Given the description of an element on the screen output the (x, y) to click on. 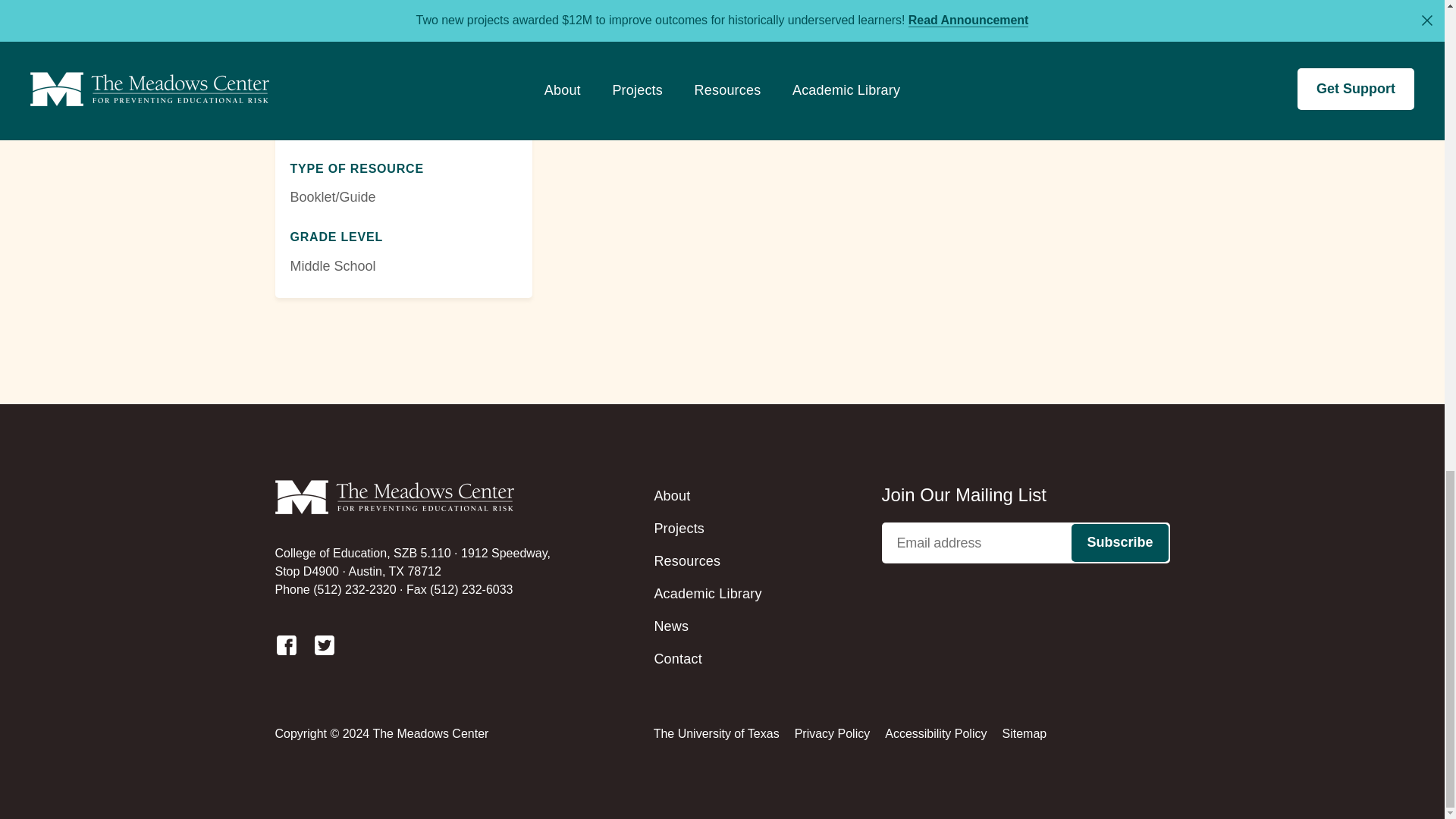
Contact (677, 658)
The University of Texas (715, 733)
News (670, 626)
Subscribe (1119, 542)
Academic Library (707, 593)
Subscribe (1119, 542)
Sitemap (1023, 733)
Privacy Policy (832, 733)
Projects (678, 528)
Resources (686, 560)
Accessibility Policy (936, 733)
About (671, 495)
